Given the description of an element on the screen output the (x, y) to click on. 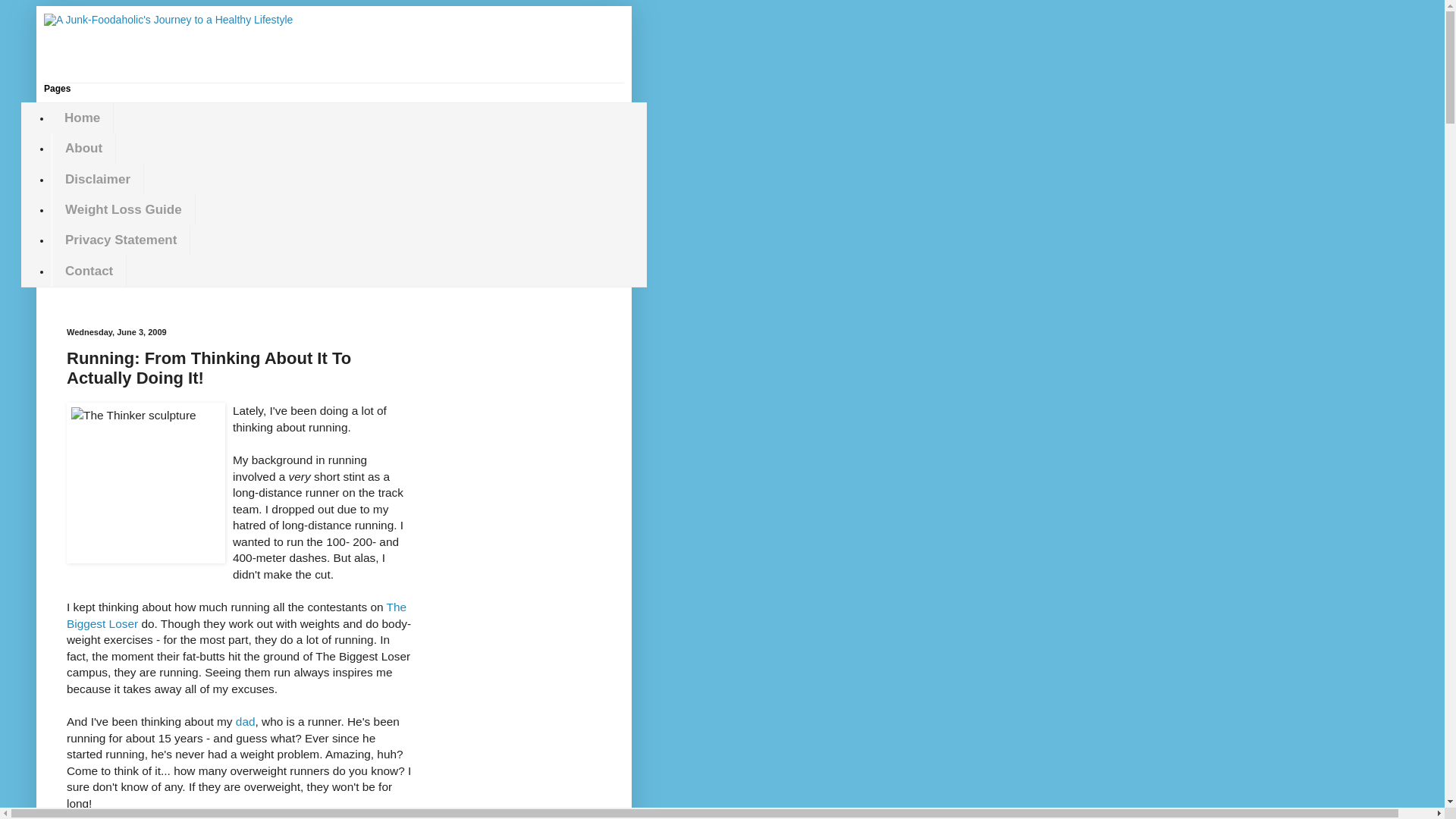
Contact (88, 270)
Home (81, 118)
Disclaimer (97, 178)
Weight Loss Guide (122, 209)
dad (245, 721)
Privacy Statement (120, 240)
About (83, 148)
The Biggest Loser (236, 614)
